Given the description of an element on the screen output the (x, y) to click on. 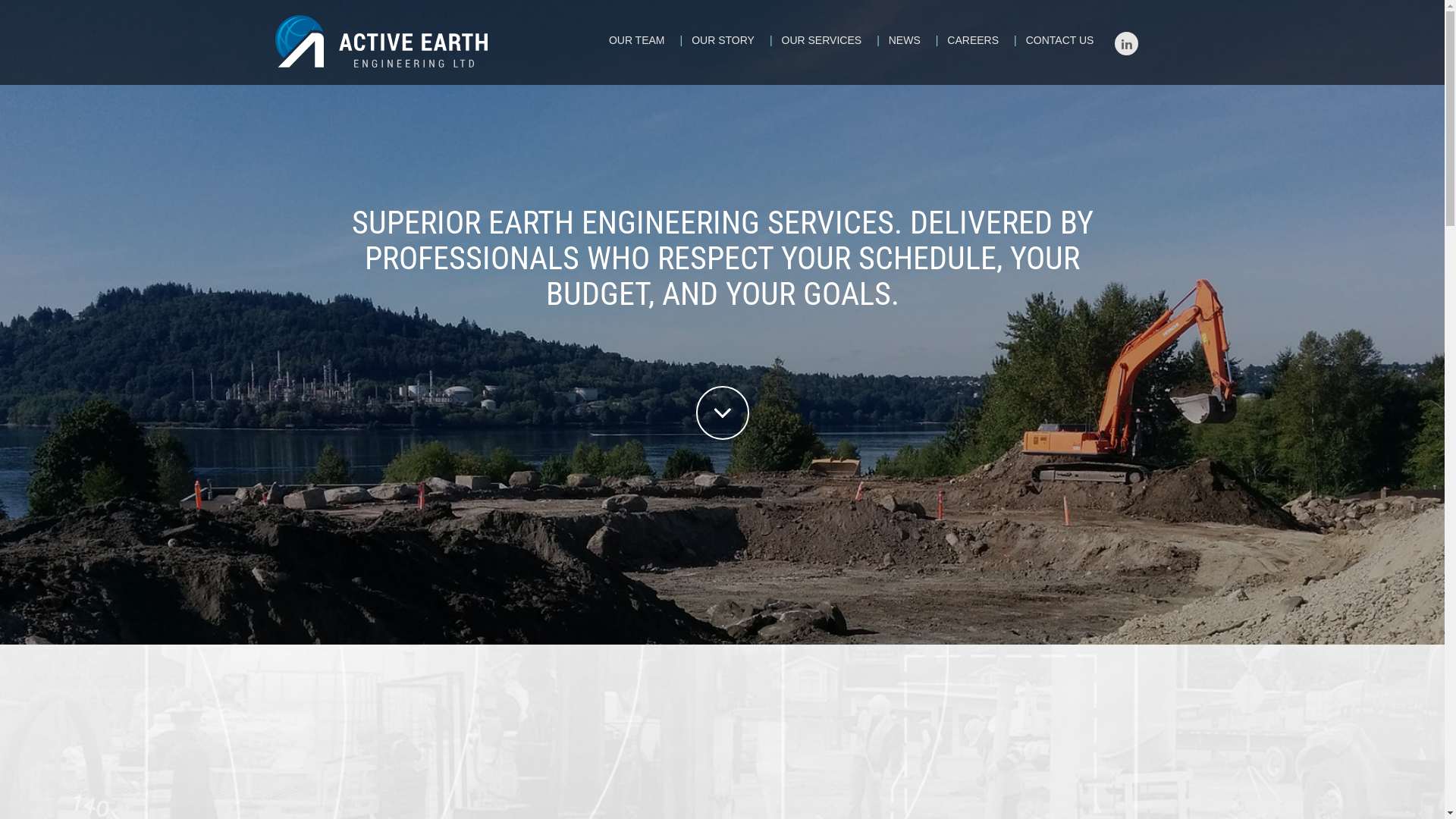
CONTACT US Element type: text (1060, 44)
OUR STORY Element type: text (722, 44)
OUR TEAM Element type: text (636, 44)
OUR SERVICES Element type: text (821, 44)
NEWS Element type: text (904, 44)
CAREERS Element type: text (972, 44)
